Given the description of an element on the screen output the (x, y) to click on. 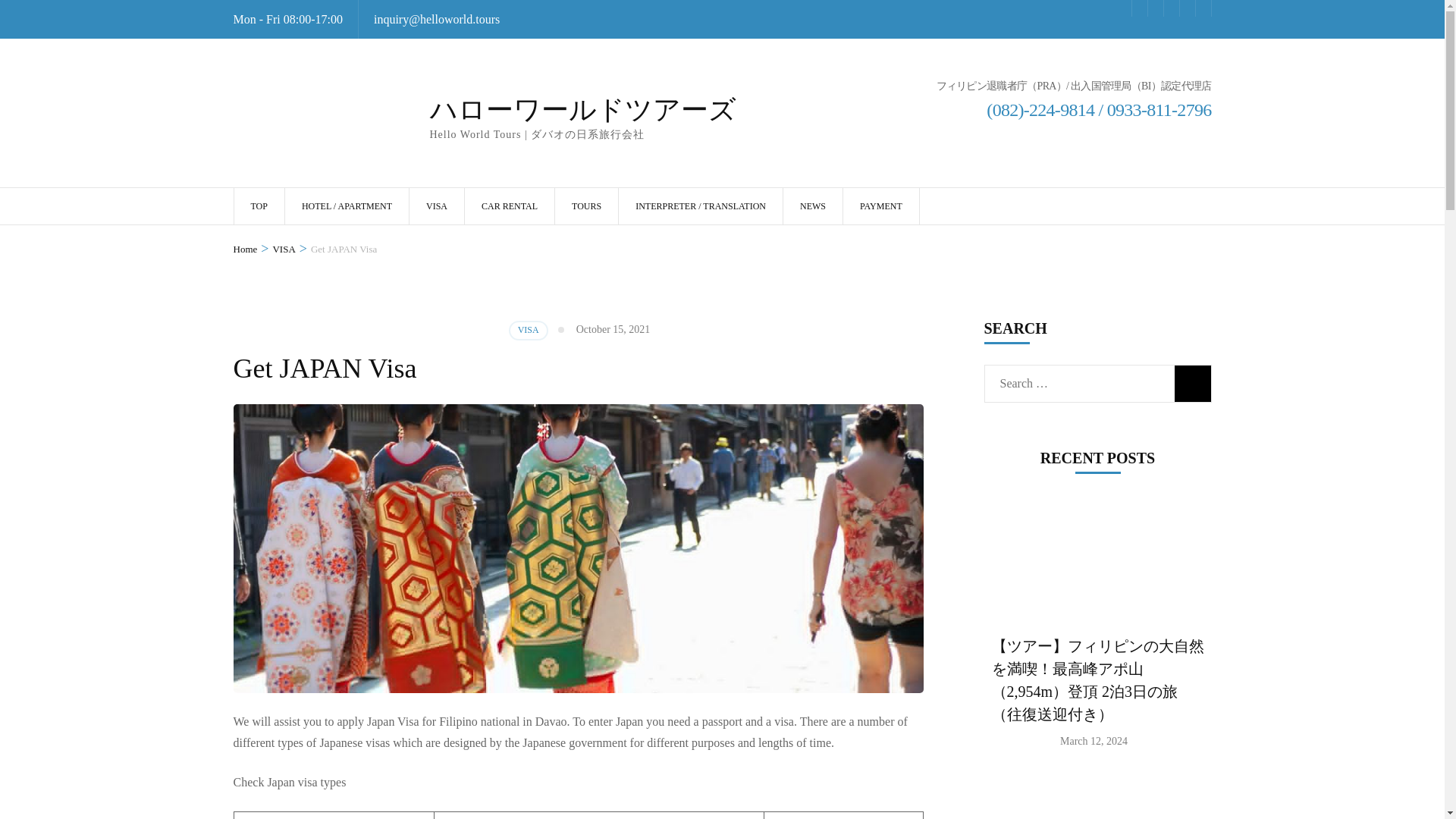
PAYMENT (880, 206)
Car Rental (509, 206)
NEWS (813, 206)
October 15, 2021 (613, 328)
Tours (585, 206)
CAR RENTAL (509, 206)
VISA (436, 206)
TOP (257, 206)
VISA (436, 206)
Hotel Apartment (347, 206)
